Given the description of an element on the screen output the (x, y) to click on. 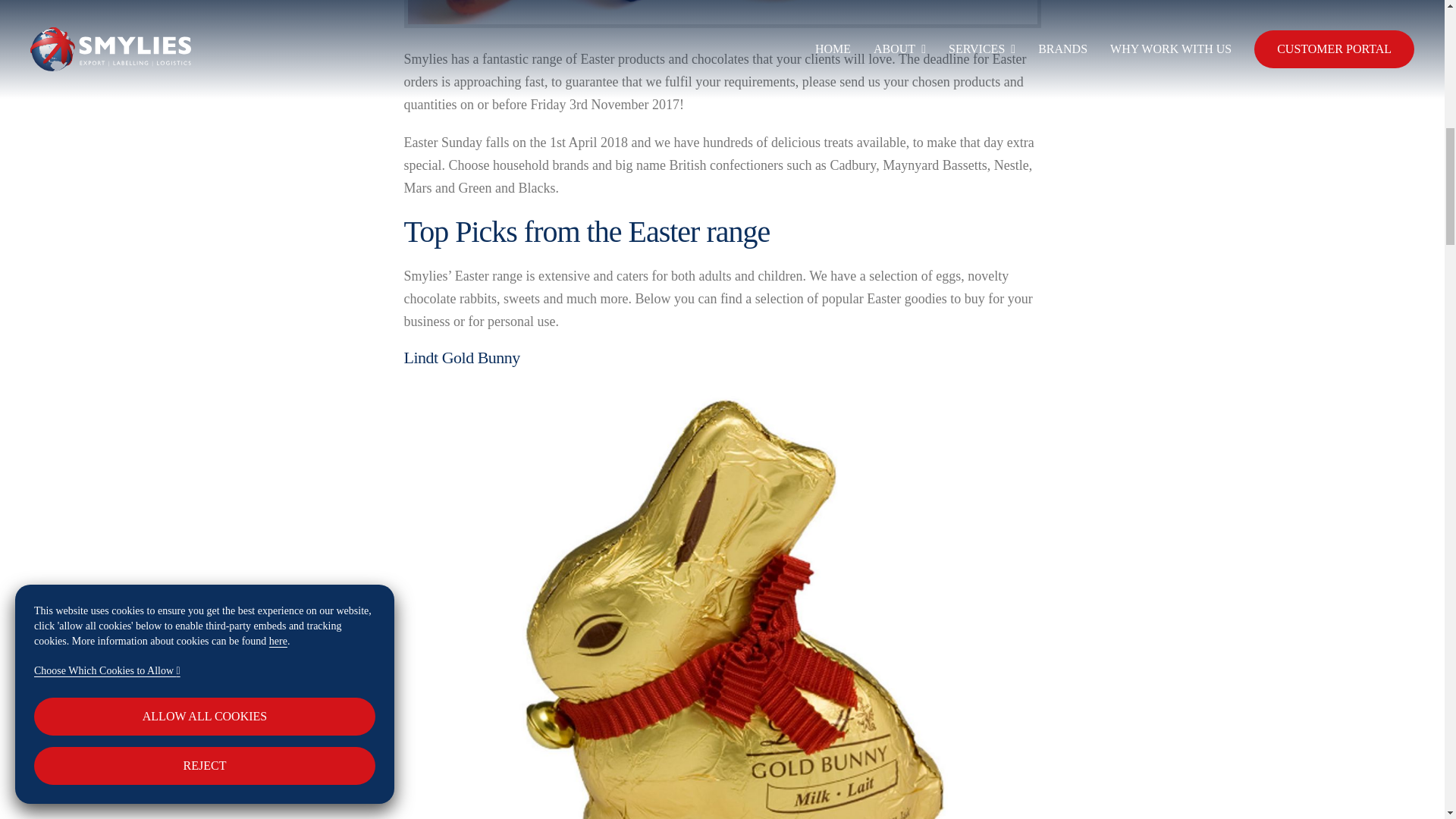
Easter chocolate eggs (721, 12)
